Given the description of an element on the screen output the (x, y) to click on. 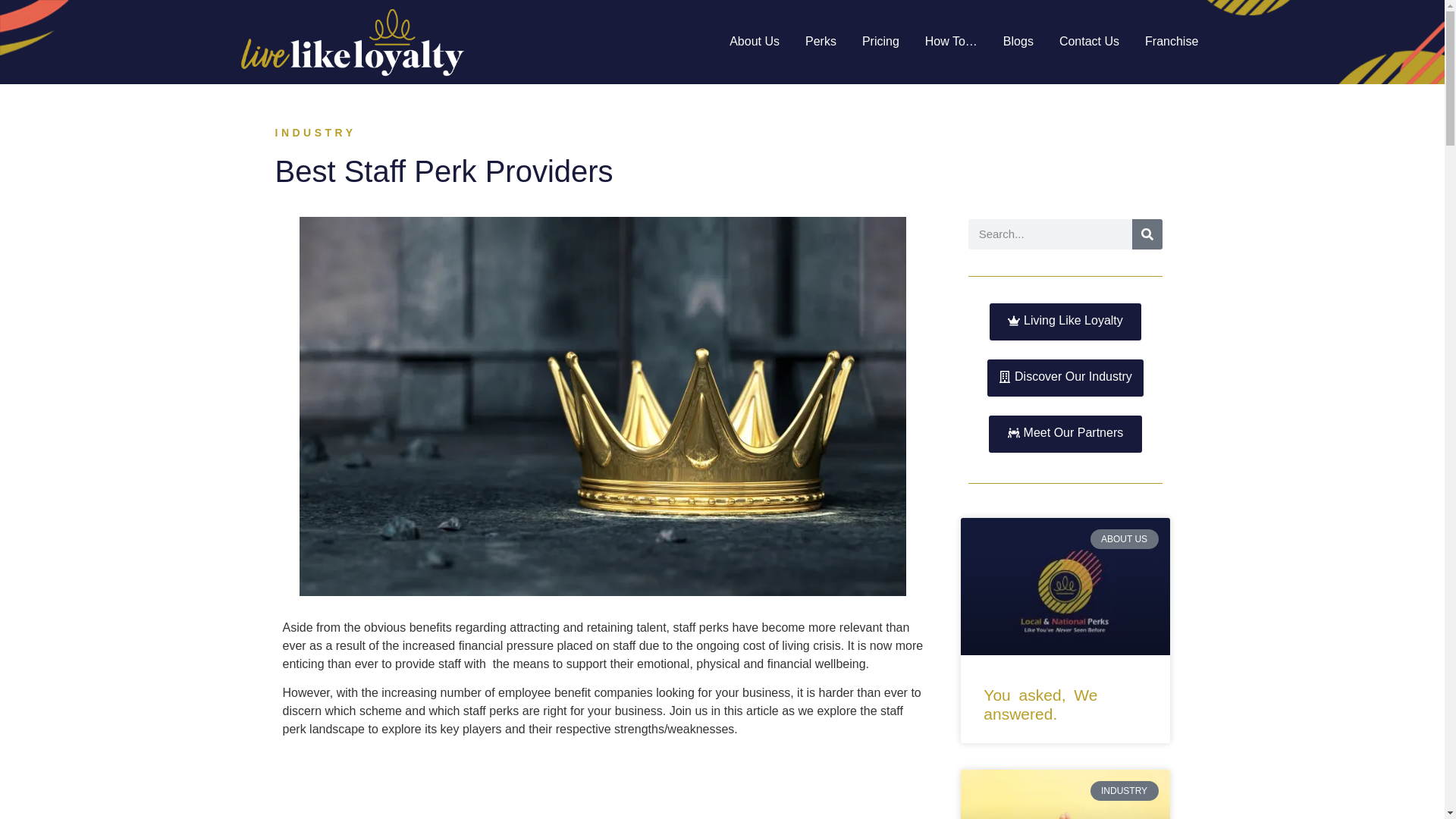
About Us (758, 41)
Contact Us (1092, 41)
Franchise (1171, 41)
Blogs (1021, 41)
Pricing (884, 41)
Perks (824, 41)
